Given the description of an element on the screen output the (x, y) to click on. 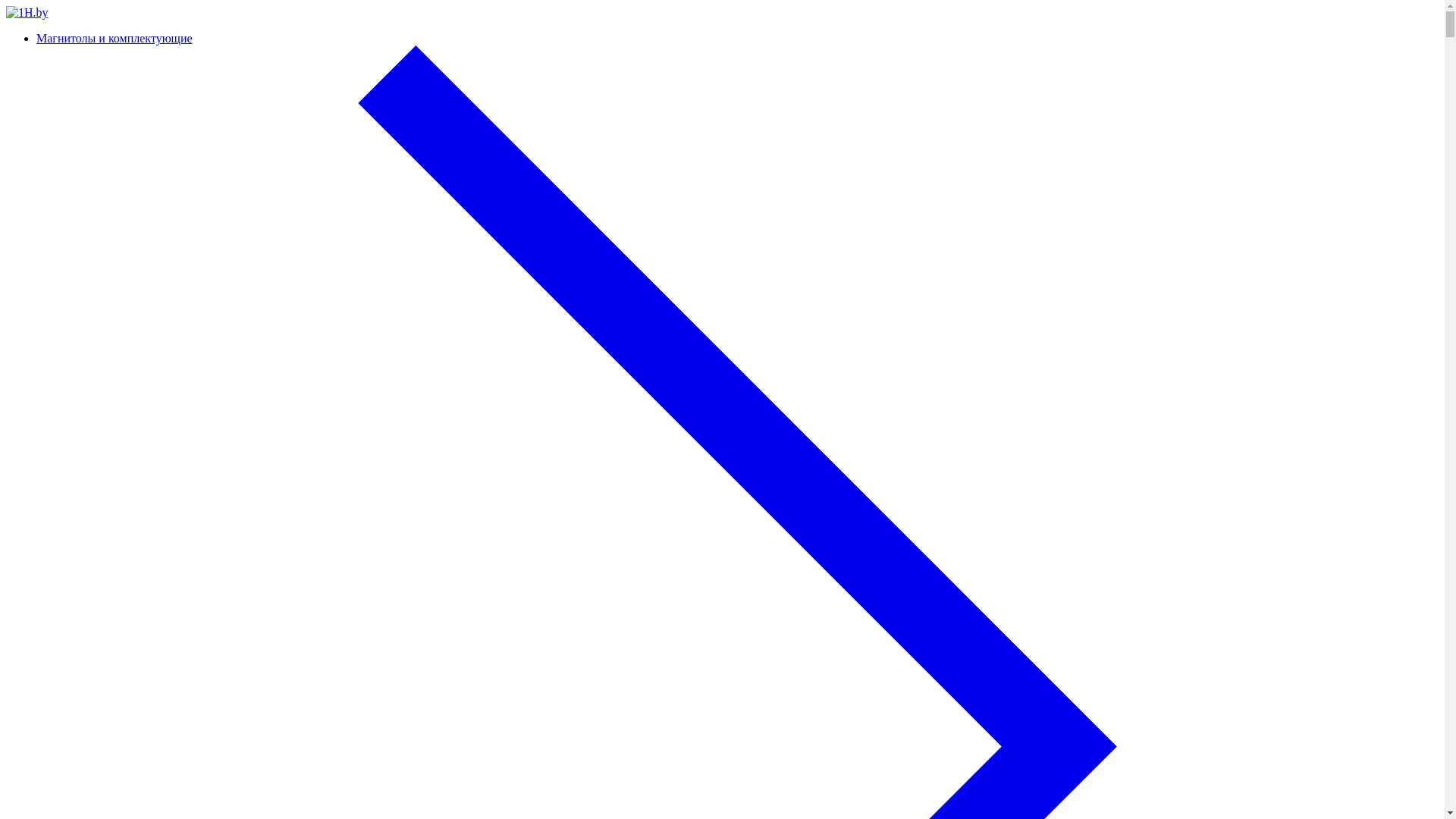
1H.by Element type: hover (27, 12)
